Given the description of an element on the screen output the (x, y) to click on. 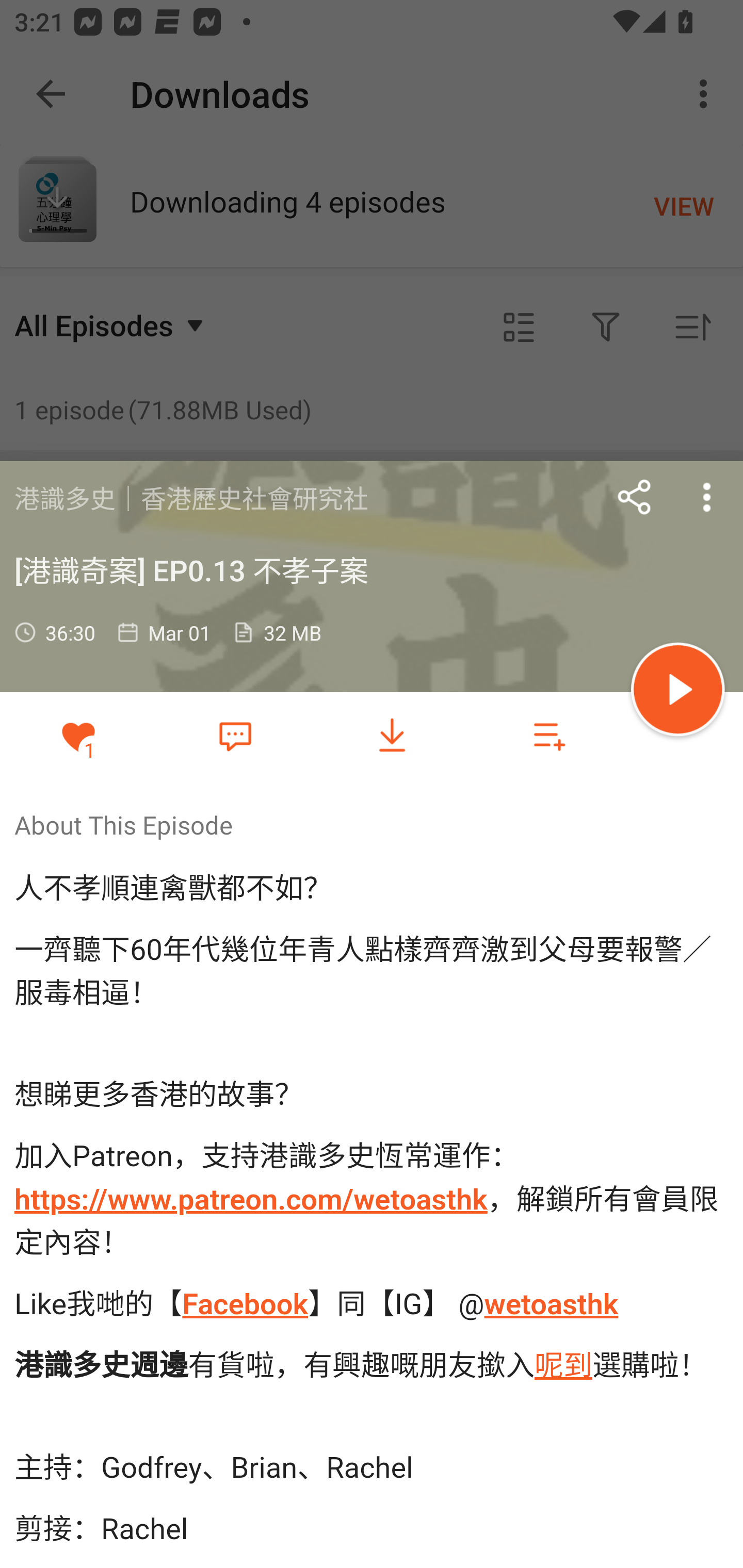
Share (634, 496)
more options (706, 496)
Play (677, 692)
Favorite (234, 735)
Remove from Favorites (78, 735)
Download (391, 735)
Add to playlist (548, 735)
https://www.patreon.com/wetoasthk (250, 1199)
⁠⁠⁠⁠Facebook⁠⁠⁠⁠ (244, 1303)
⁠⁠⁠⁠wetoasthk⁠⁠⁠⁠ (550, 1303)
⁠⁠⁠⁠呢到⁠⁠⁠⁠ (563, 1364)
